Given the description of an element on the screen output the (x, y) to click on. 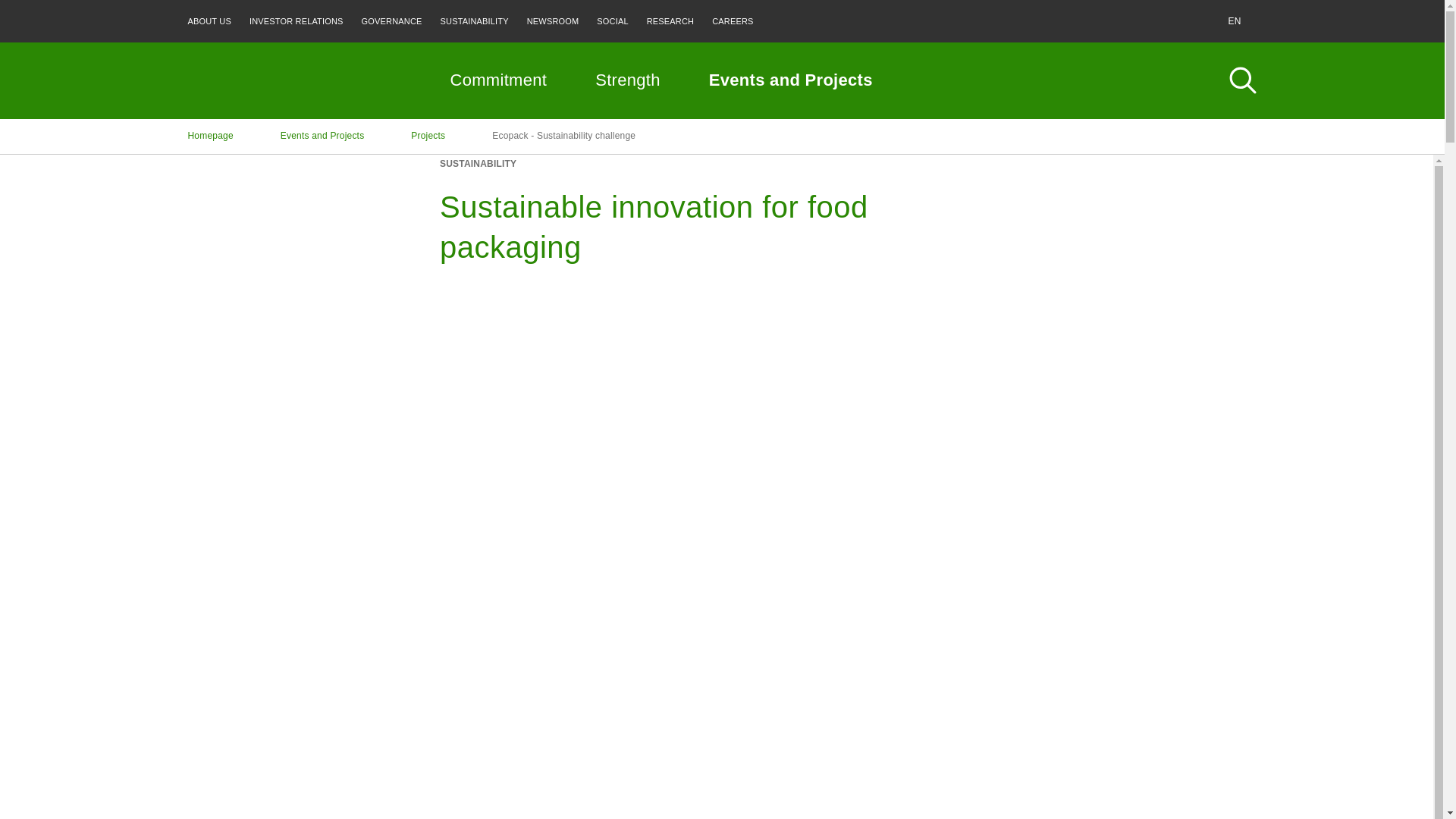
GOVERNANCE (391, 21)
ABOUT US (209, 21)
INVESTOR RELATIONS (295, 21)
